Given the description of an element on the screen output the (x, y) to click on. 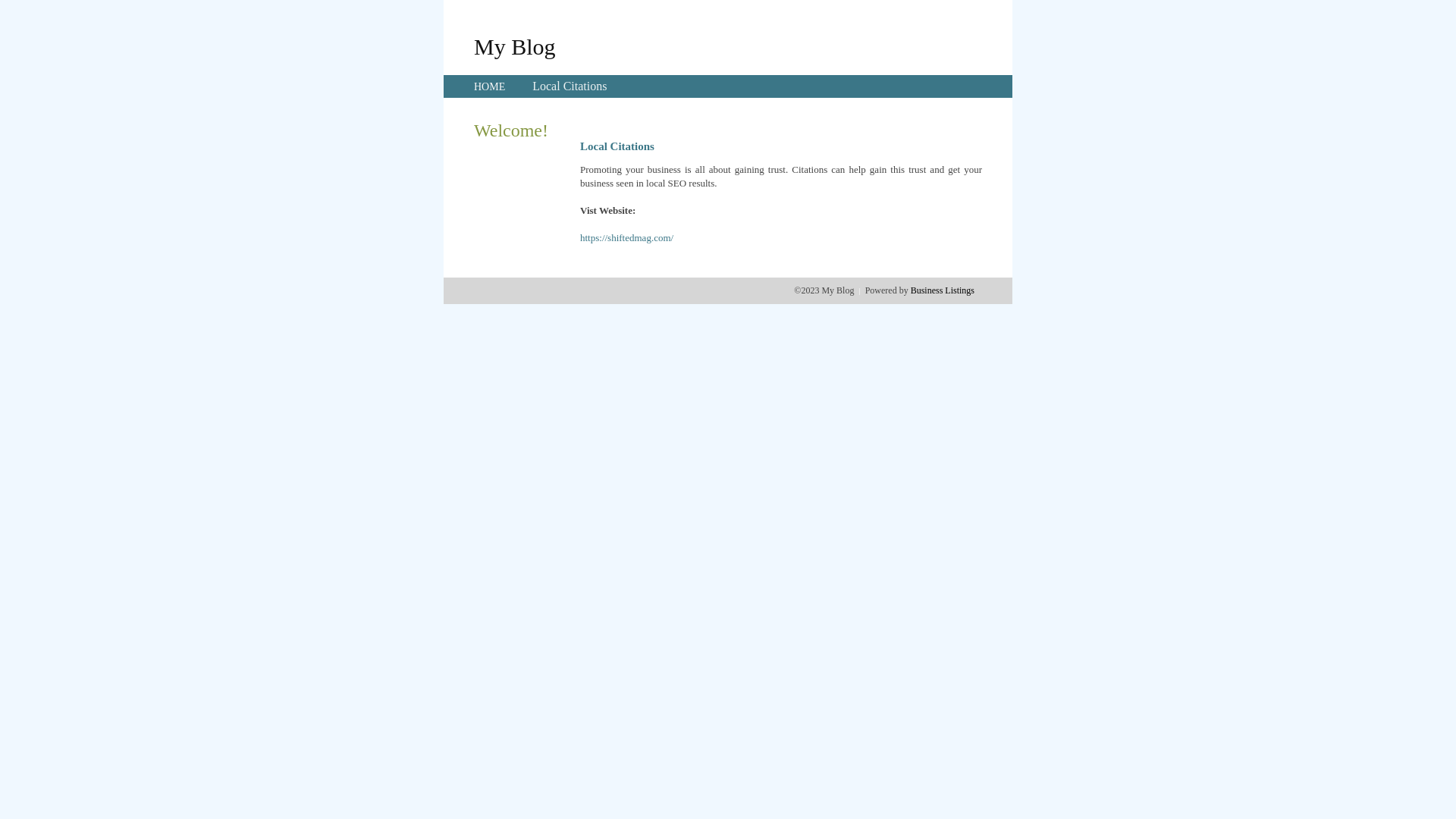
HOME Element type: text (489, 86)
Local Citations Element type: text (569, 85)
My Blog Element type: text (514, 46)
https://shiftedmag.com/ Element type: text (626, 237)
Business Listings Element type: text (942, 290)
